Given the description of an element on the screen output the (x, y) to click on. 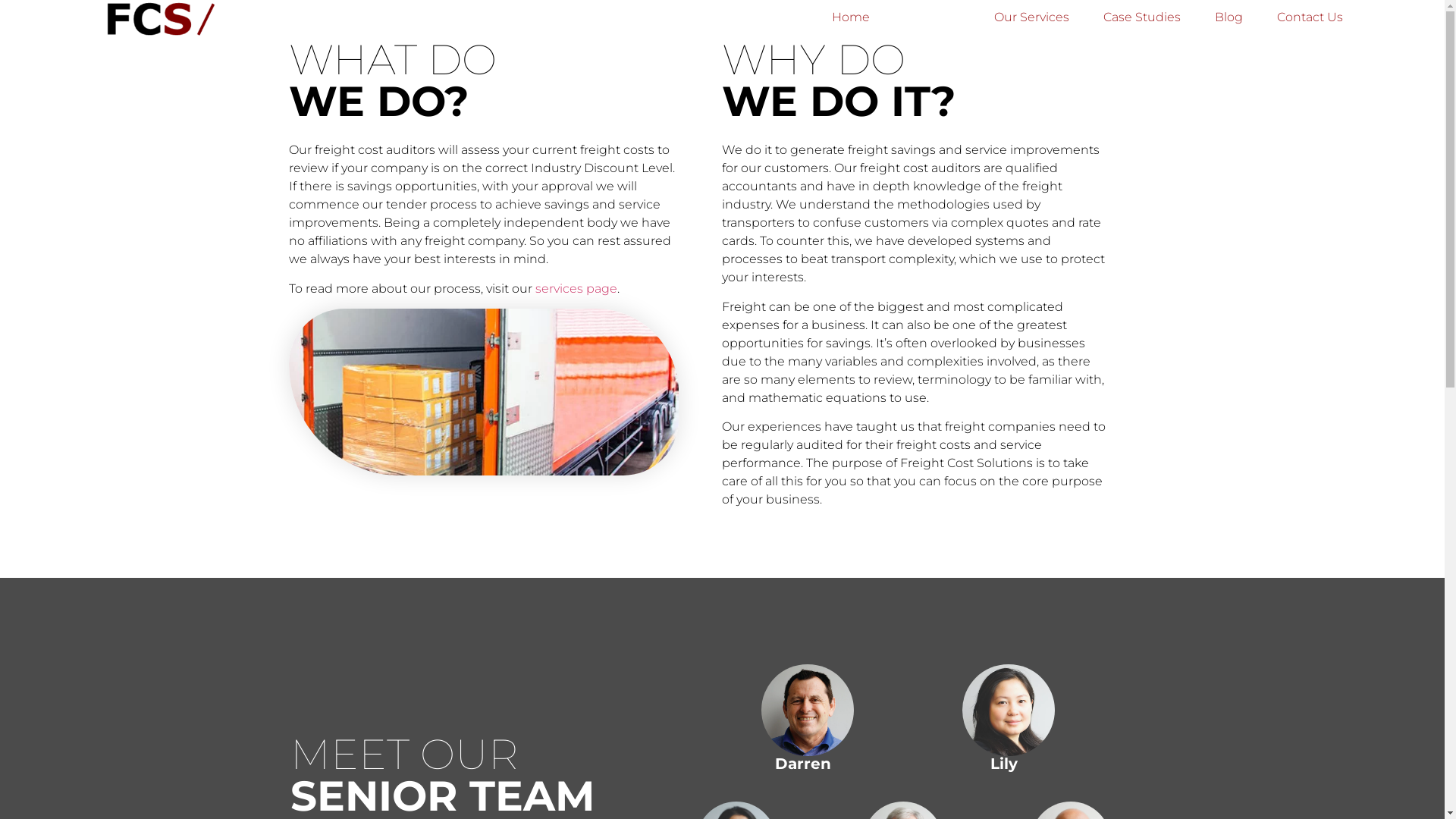
Contact Us Element type: text (1309, 17)
Blog Element type: text (1228, 17)
Our Services Element type: text (1031, 17)
services page Element type: text (576, 288)
Case Studies Element type: text (1141, 17)
Home Element type: text (850, 17)
Freight Cost Auditors Element type: hover (483, 391)
About Us Element type: text (931, 17)
